Given the description of an element on the screen output the (x, y) to click on. 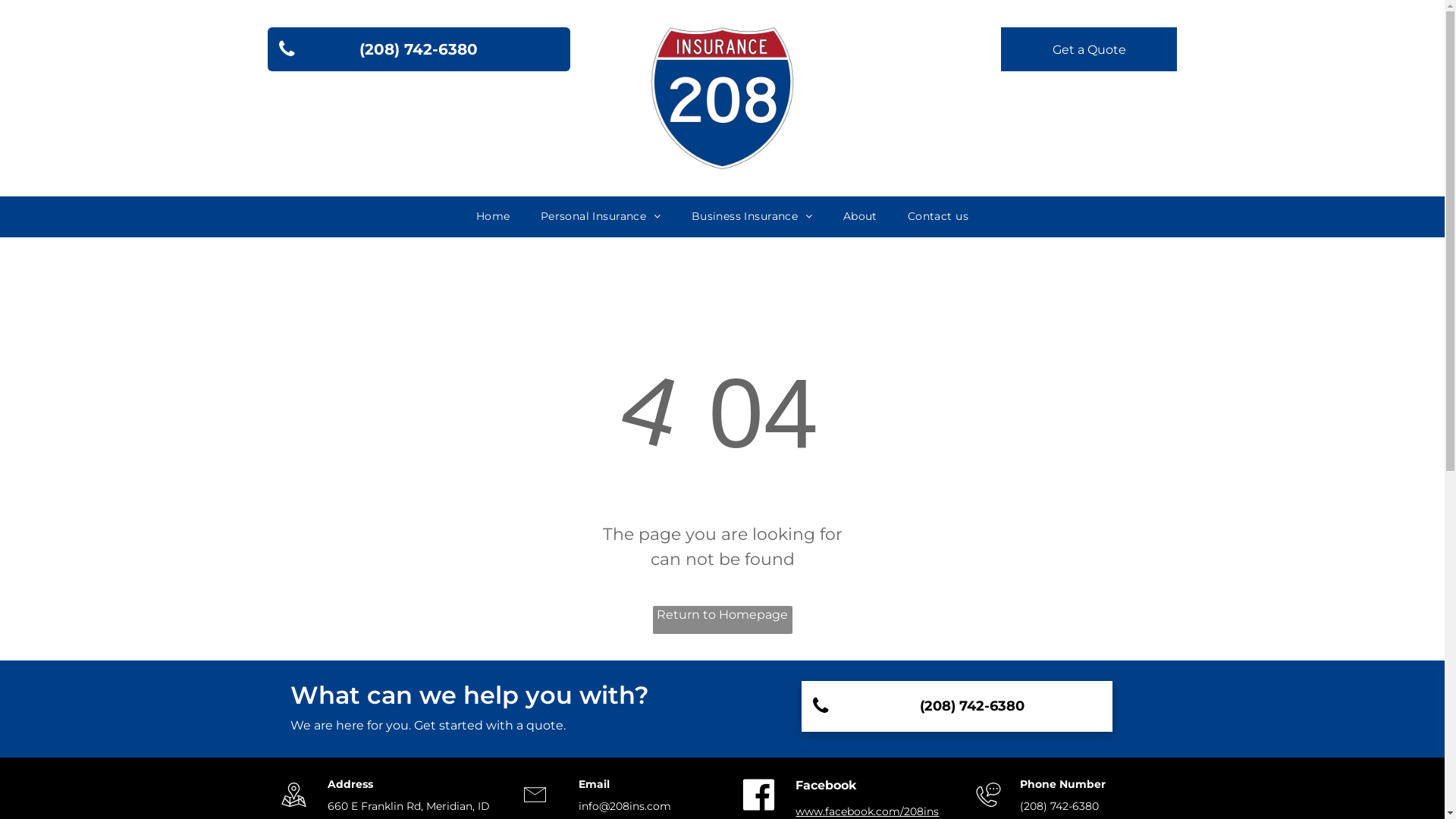
Get a Quote Element type: text (1088, 49)
Business Insurance Element type: text (752, 216)
(208) 742-6380 Element type: text (418, 49)
Home Element type: text (493, 216)
(208) 742-6380 Element type: text (955, 705)
About Element type: text (860, 216)
info@208ins.com    Element type: text (629, 805)
Return to Homepage Element type: text (721, 619)
Personal Insurance Element type: text (600, 216)
Contact us Element type: text (937, 216)
